Given the description of an element on the screen output the (x, y) to click on. 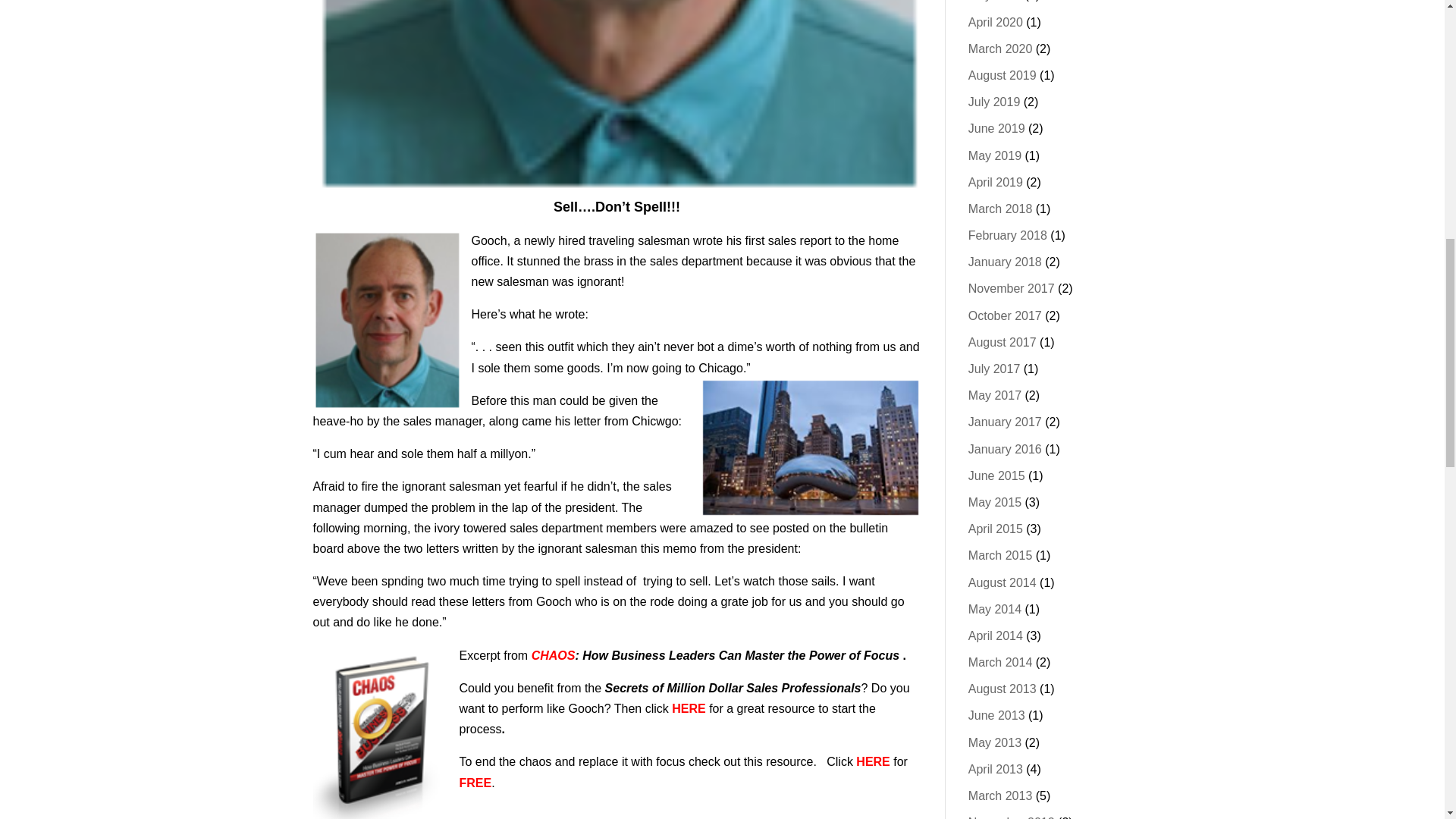
HERE (687, 707)
HERE (872, 761)
